Given the description of an element on the screen output the (x, y) to click on. 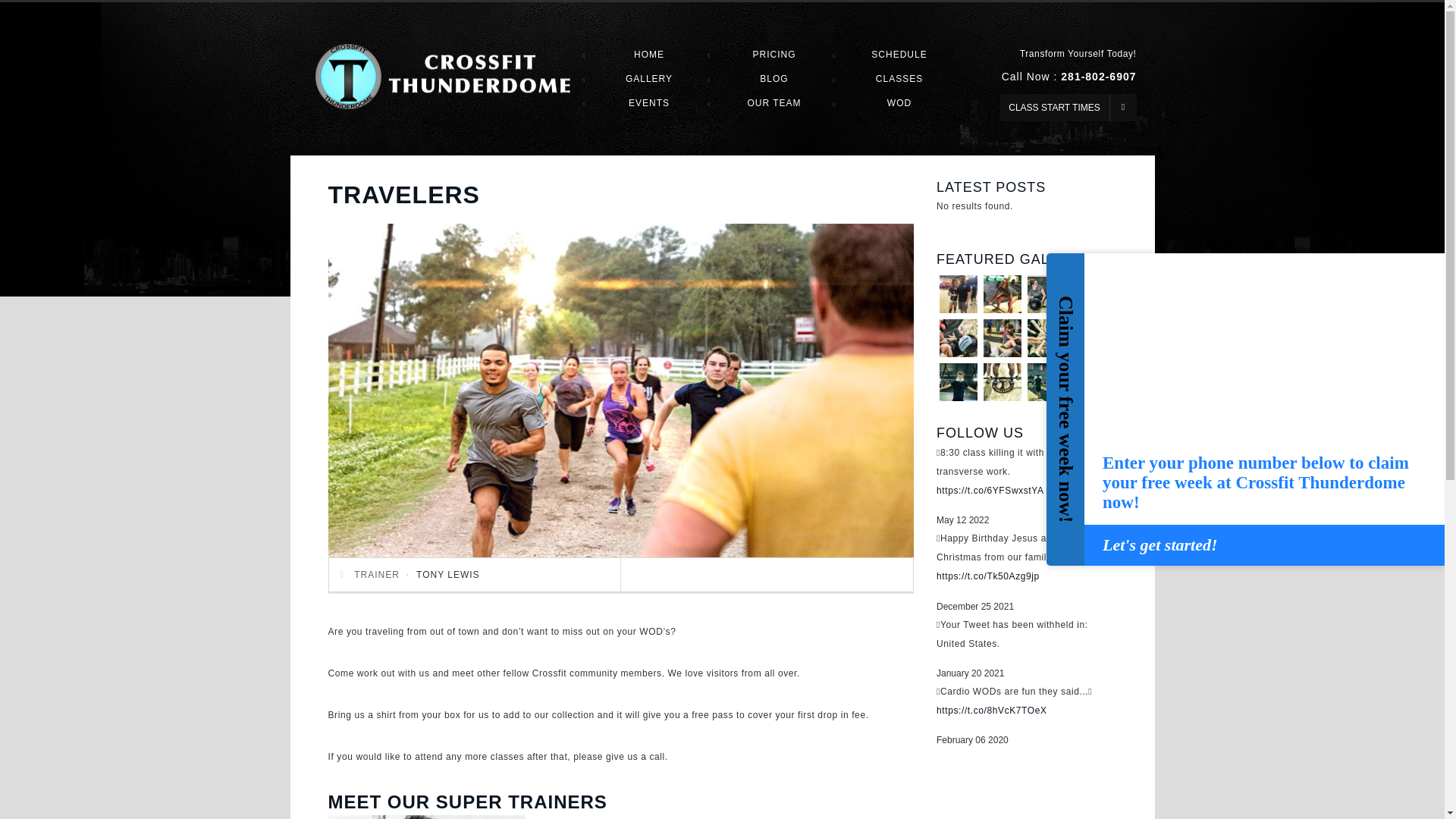
PRICING (773, 54)
HOME (648, 54)
SCHEDULE (898, 54)
GALLERY (649, 78)
OUR TEAM (773, 103)
CLASS START TIMES (1066, 107)
CLASSES (899, 78)
WOD (898, 103)
BLOG (773, 78)
EVENTS (648, 103)
